Given the description of an element on the screen output the (x, y) to click on. 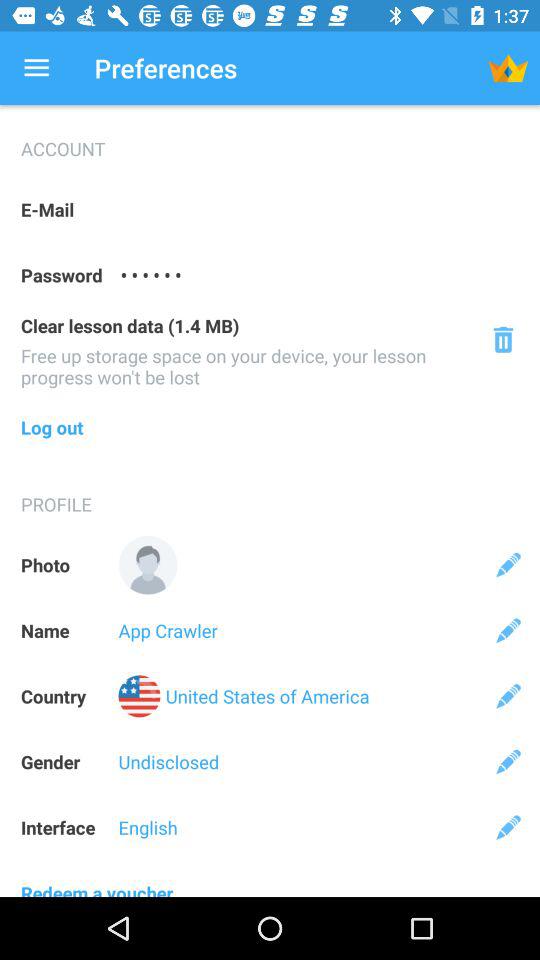
select log out item (270, 427)
